Given the description of an element on the screen output the (x, y) to click on. 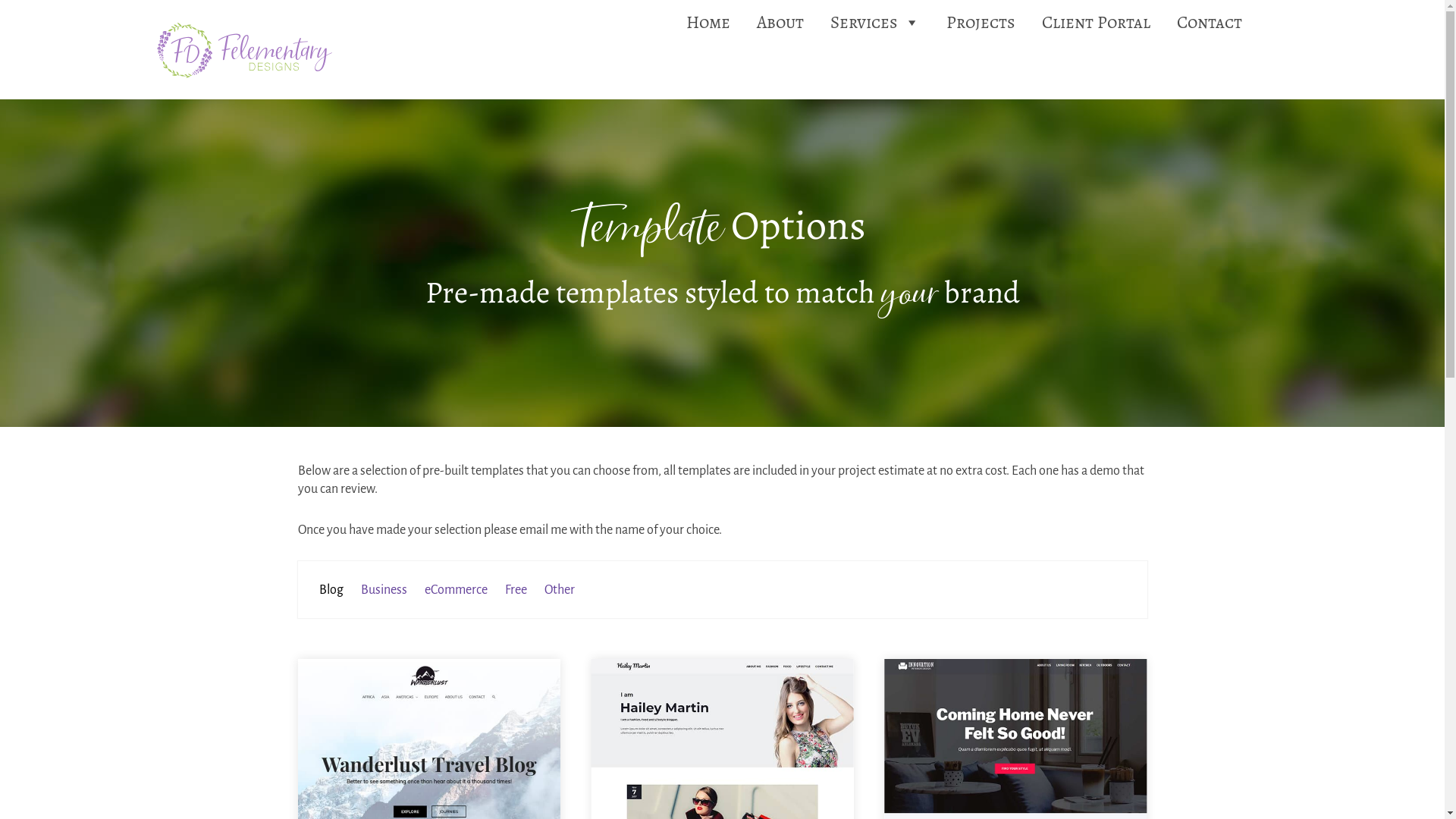
Business Element type: text (383, 589)
Contact Element type: text (1209, 22)
eCommerce Element type: text (456, 589)
Blog Element type: text (330, 589)
Home Element type: text (707, 22)
Other Element type: text (559, 589)
Services Element type: text (874, 22)
Projects Element type: text (980, 22)
Free Element type: text (515, 589)
Client Portal Element type: text (1095, 22)
About Element type: text (780, 22)
